Given the description of an element on the screen output the (x, y) to click on. 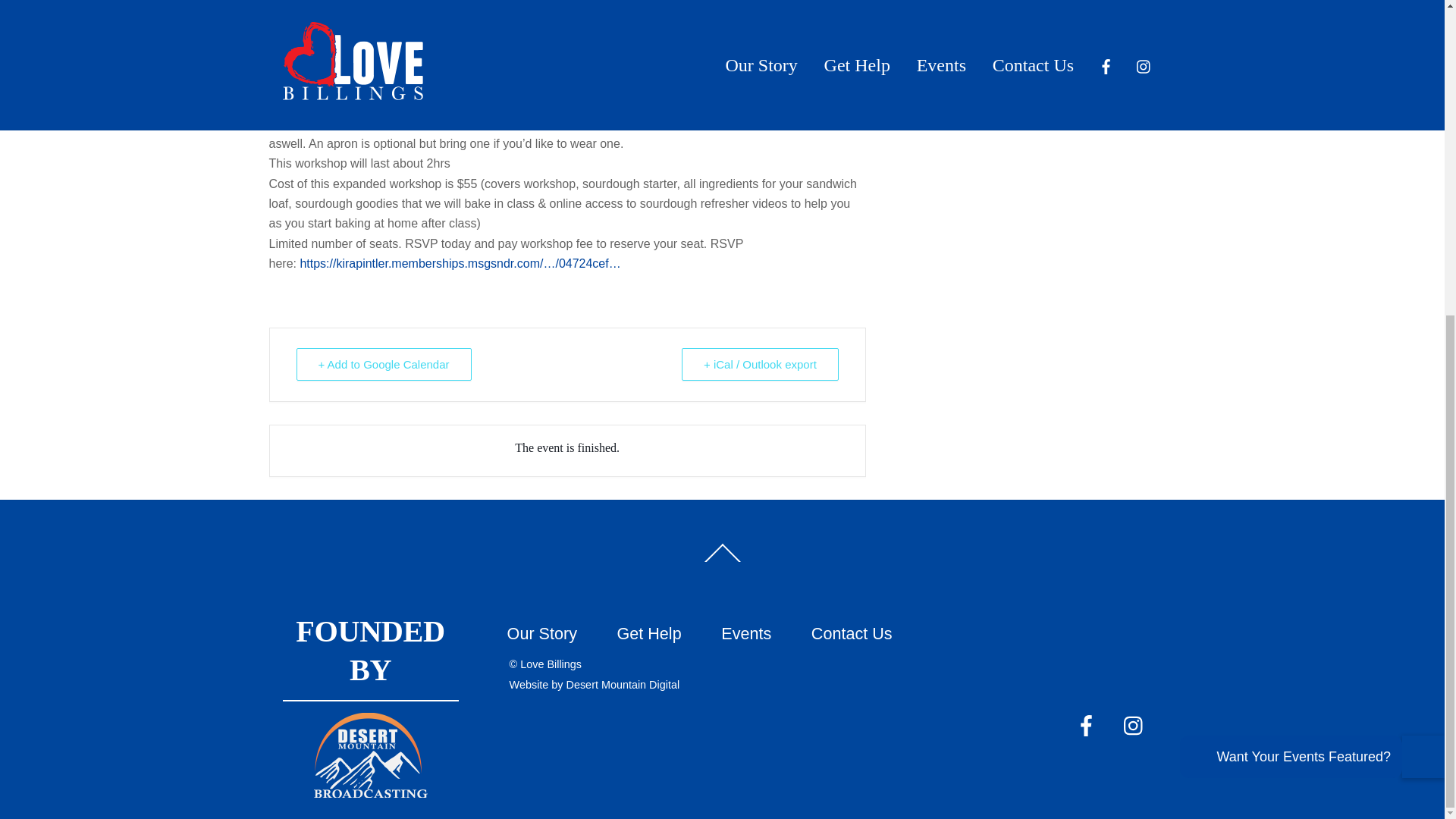
Tweet (1012, 4)
Events (746, 633)
Share on Facebook (978, 4)
Email (1080, 4)
Linkedin (1047, 4)
Back To Top (721, 560)
Desert Mountain Digital (622, 684)
Digital Marketing in Billings Montana (622, 684)
Get Help (648, 633)
DMB Logo White (371, 754)
Contact Us (851, 633)
Our Story (541, 633)
